Given the description of an element on the screen output the (x, y) to click on. 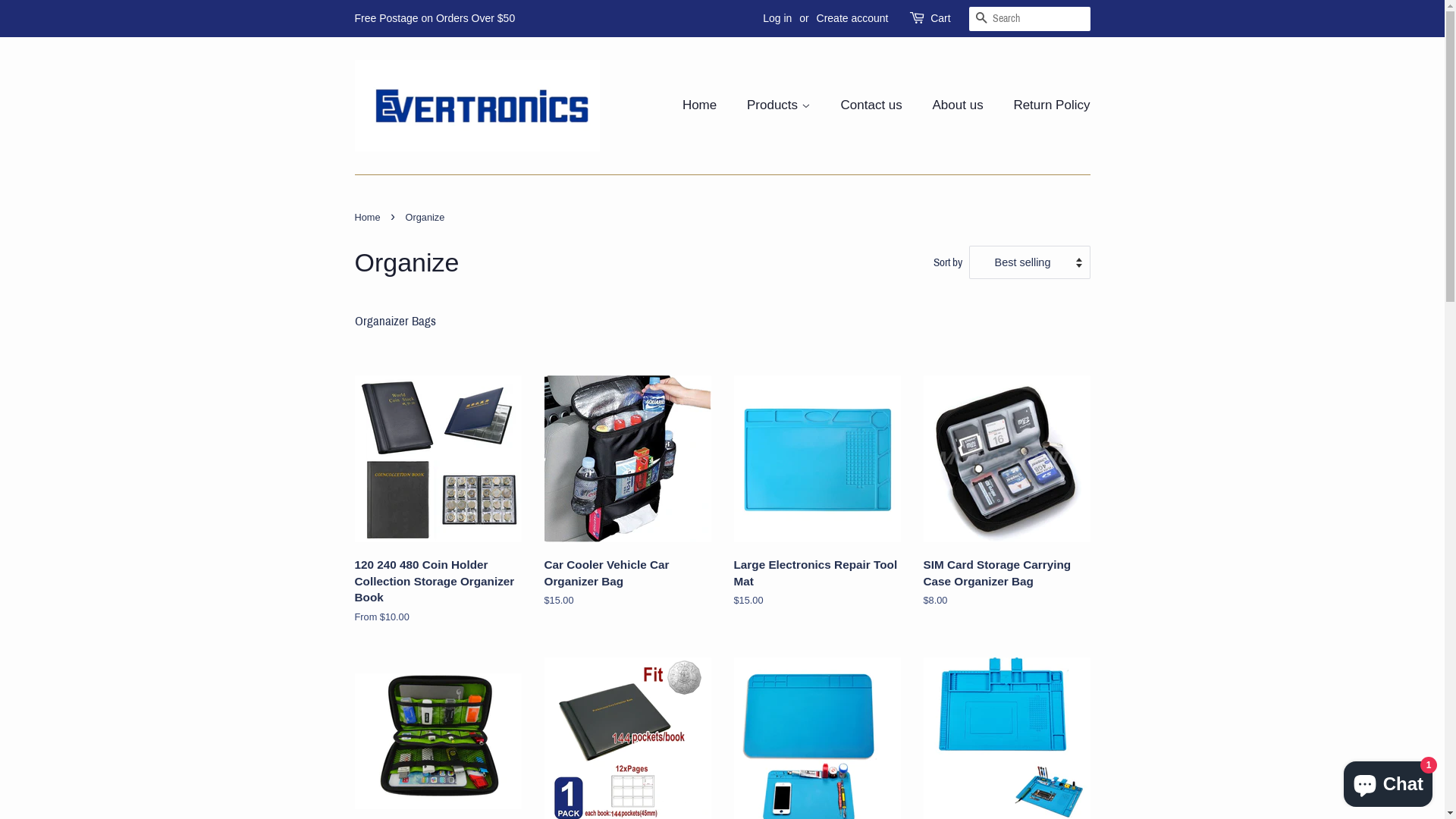
Create account Element type: text (852, 18)
Home Element type: text (369, 216)
Return Policy Element type: text (1045, 105)
Log in Element type: text (776, 18)
About us Element type: text (959, 105)
Products Element type: text (780, 105)
Cart Element type: text (940, 18)
Contact us Element type: text (873, 105)
Car Cooler Vehicle Car Organizer Bag
Regular price
$15.00 Element type: text (627, 500)
Shopify online store chat Element type: hover (1388, 780)
Search Element type: text (981, 18)
Large Electronics Repair Tool Mat
Regular price
$15.00 Element type: text (817, 500)
Free Postage on Orders Over $50 Element type: text (434, 18)
Home Element type: text (706, 105)
